Given the description of an element on the screen output the (x, y) to click on. 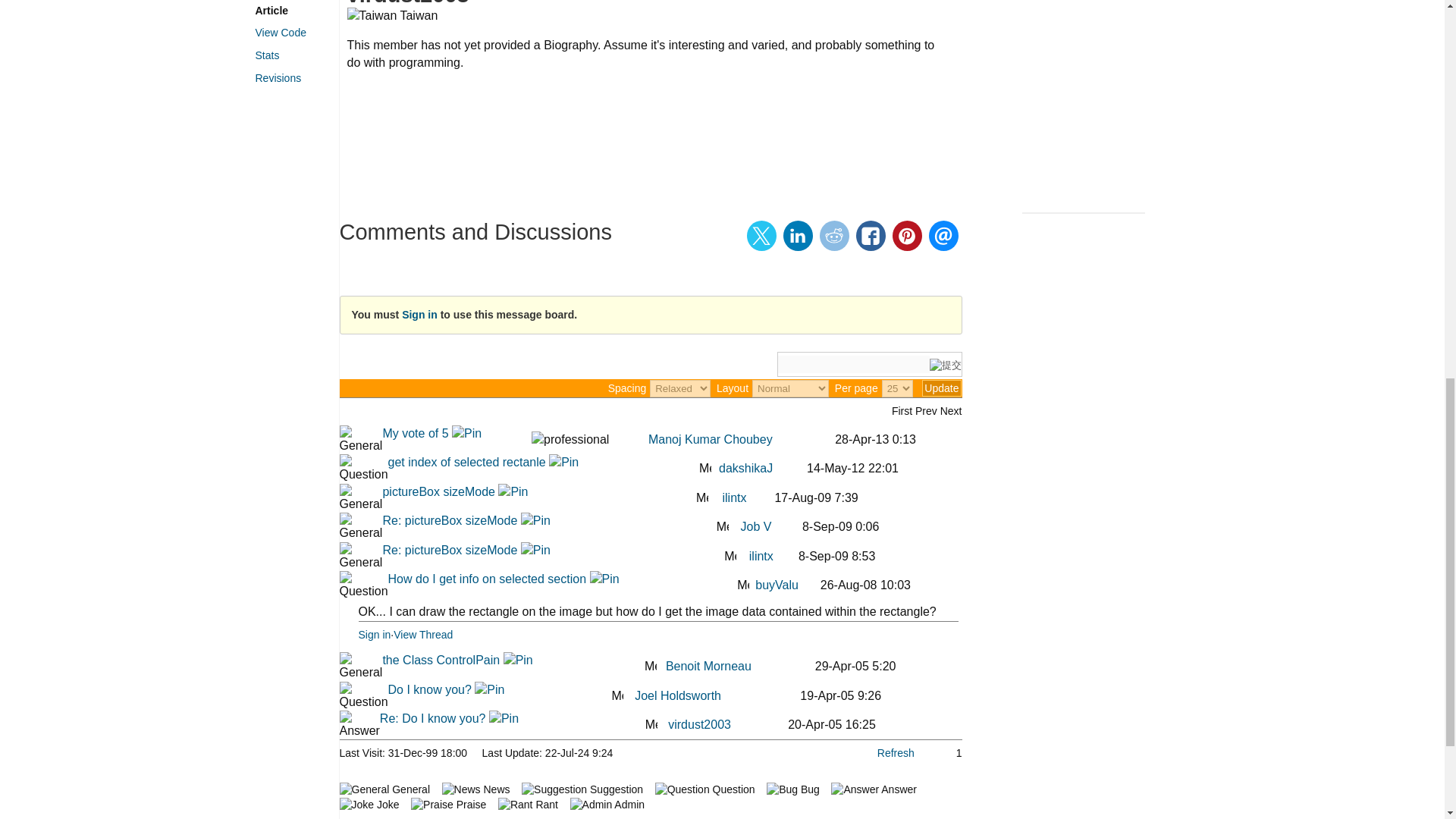
Update (940, 388)
Click to pin message (466, 432)
Question (363, 468)
General (360, 439)
Professional (569, 439)
